Given the description of an element on the screen output the (x, y) to click on. 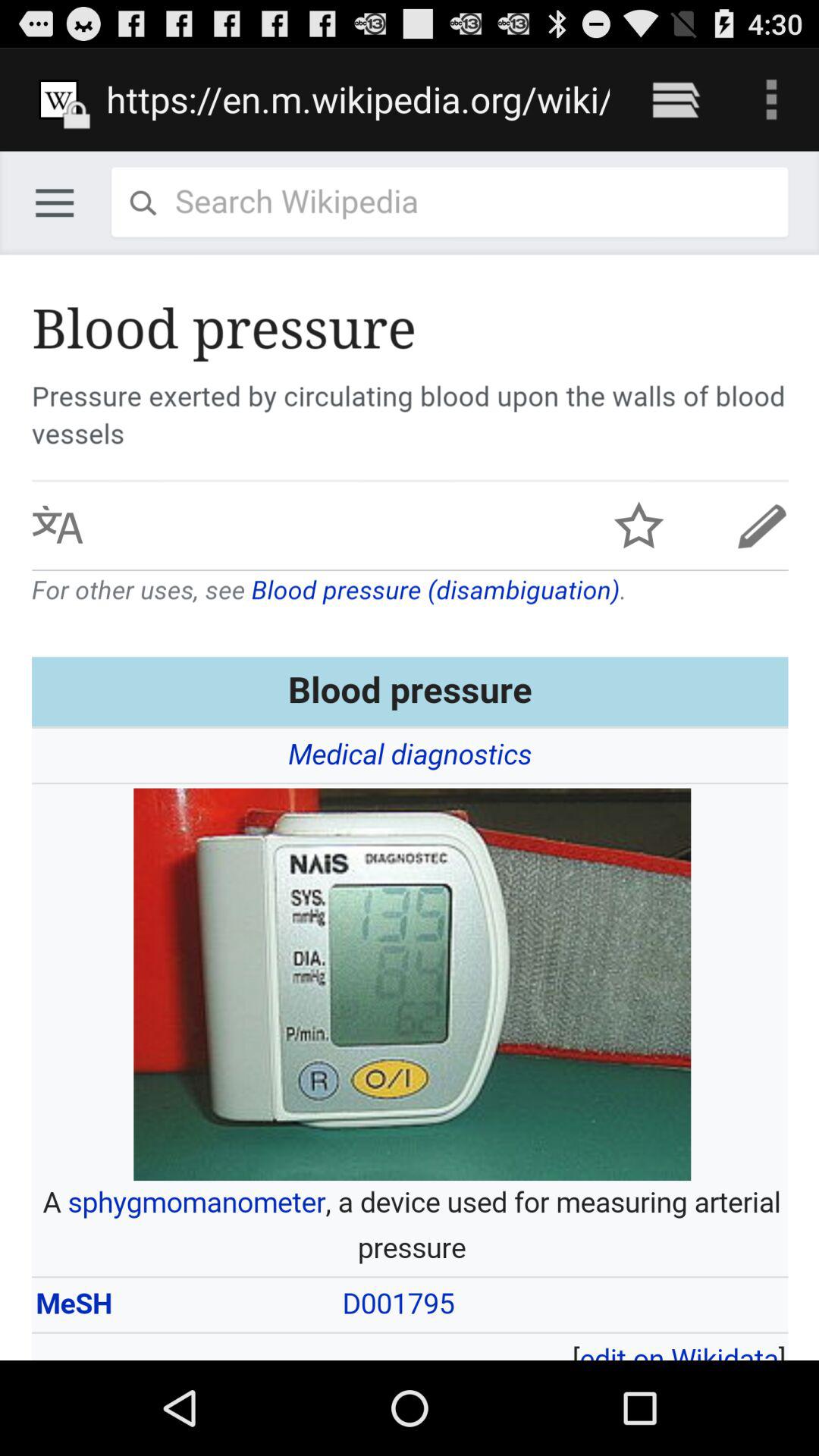
jump to the https en m item (357, 99)
